Given the description of an element on the screen output the (x, y) to click on. 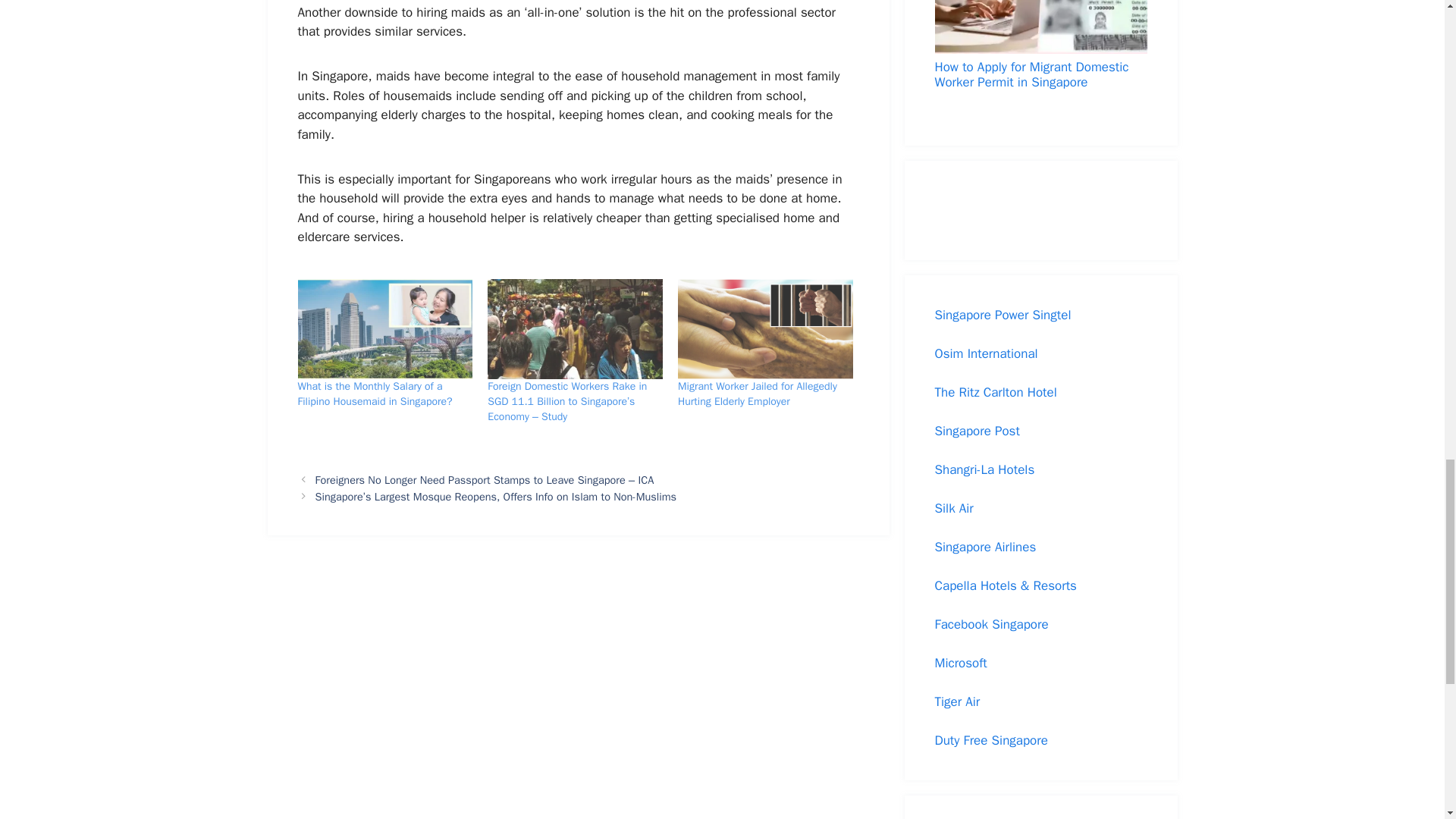
Migrant Worker Jailed for Allegedly Hurting Elderly Employer (757, 393)
Shangri-La Hotels (983, 469)
Singapore Airlines (984, 546)
How to Apply for Migrant Domestic Worker Permit in Singapore (1040, 45)
Singapore Power (980, 314)
The Ritz Carlton Hotel (995, 392)
Osim International (985, 353)
Singapore Post (976, 430)
Singtel (1051, 314)
Silk Air (953, 508)
